Given the description of an element on the screen output the (x, y) to click on. 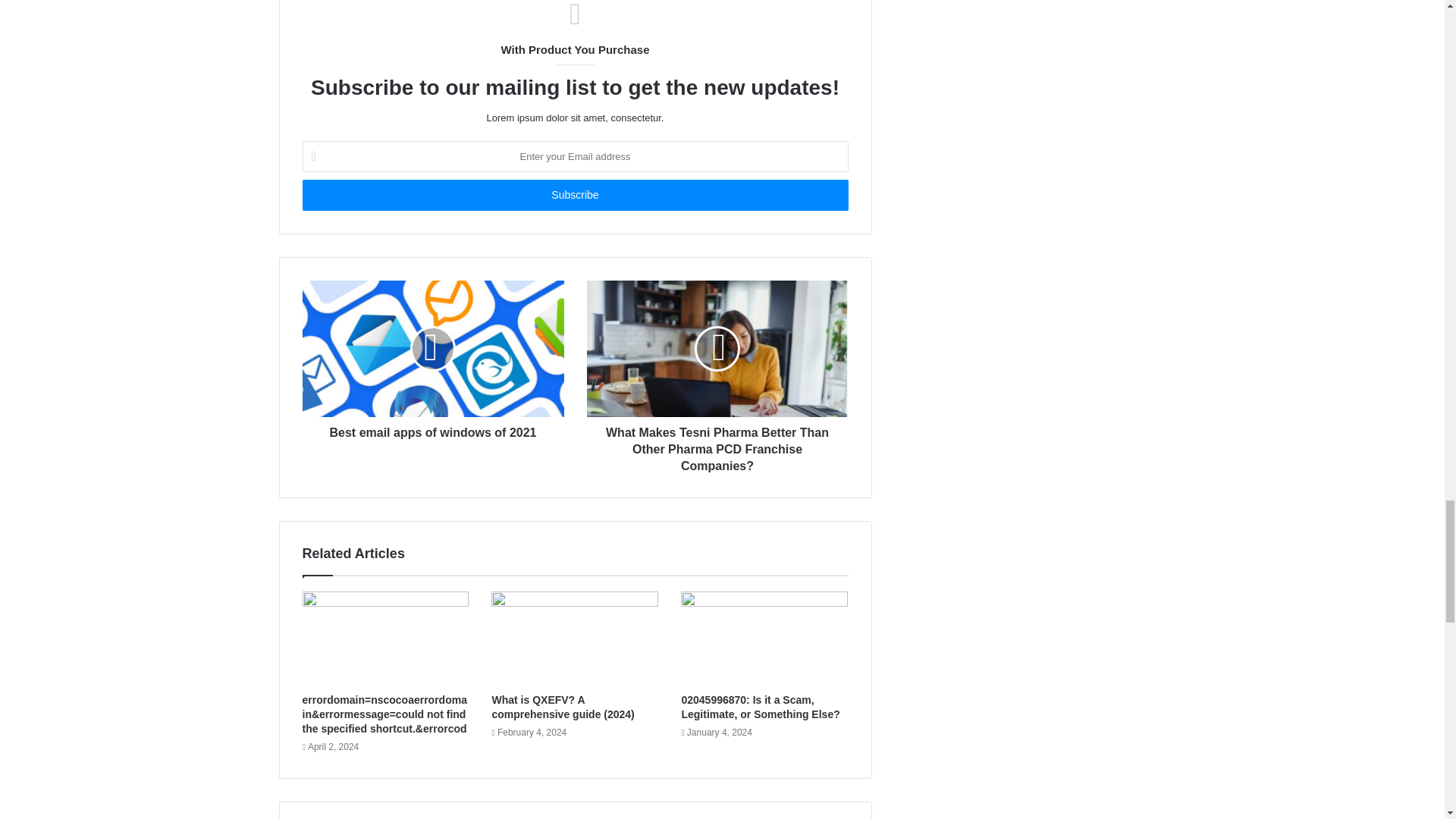
Subscribe (574, 194)
